Given the description of an element on the screen output the (x, y) to click on. 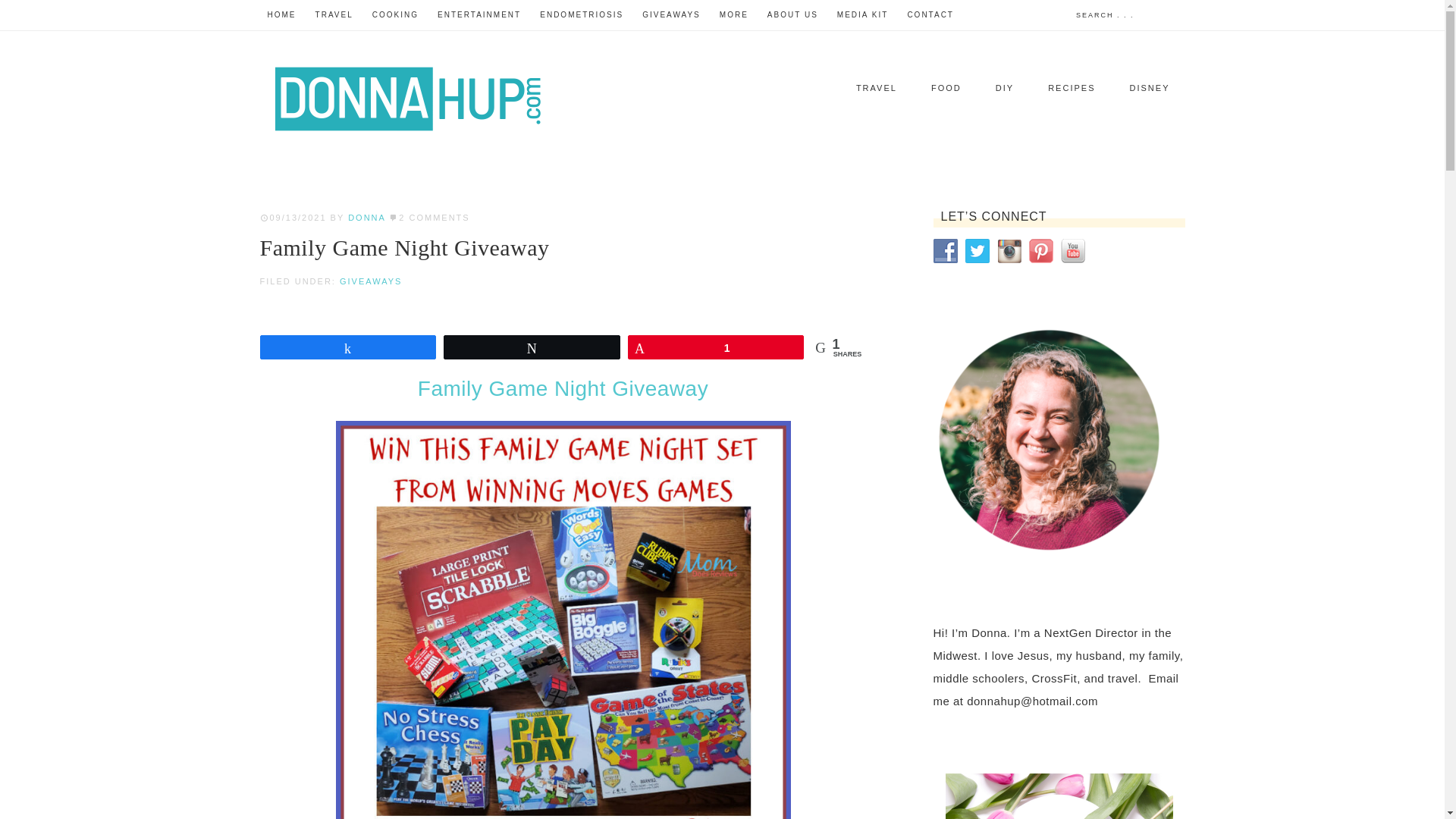
Follow Us on Pinterest (1039, 250)
ENTERTAINMENT (478, 15)
Follow Us on YouTube (1071, 250)
HOME (280, 15)
Follow Us on Twitter (975, 250)
Follow Us on Instagram (1007, 250)
COOKING (395, 15)
Follow Us on Facebook (944, 250)
TRAVEL (334, 15)
